Given the description of an element on the screen output the (x, y) to click on. 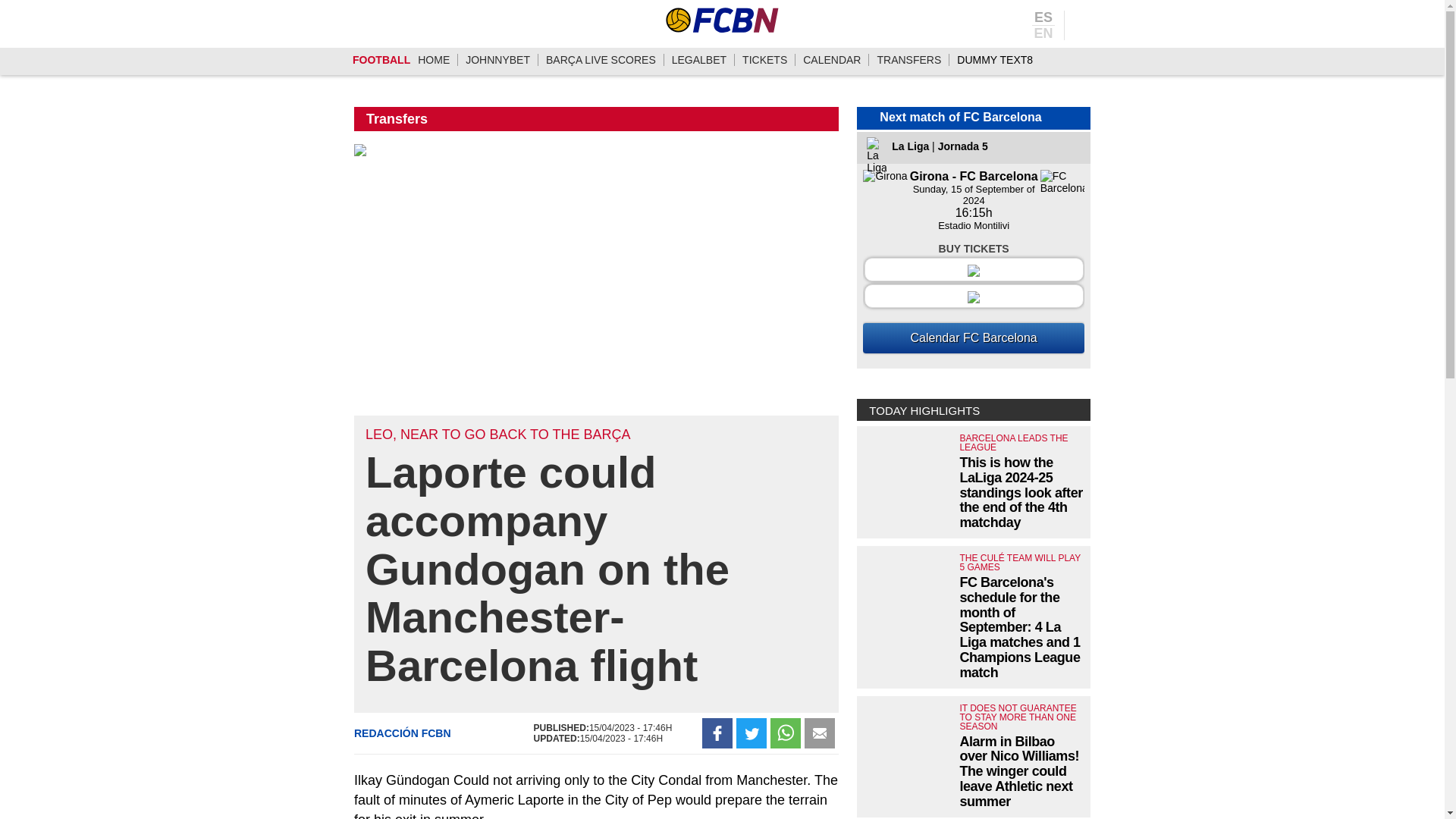
JOHNNYBET (497, 60)
TICKETS (764, 60)
CALENDAR (831, 60)
Transfers (397, 118)
FCBN (721, 19)
LEGALBET (698, 60)
TICKETS (764, 60)
Transfers (908, 60)
English (1043, 32)
ES (1043, 17)
